Given the description of an element on the screen output the (x, y) to click on. 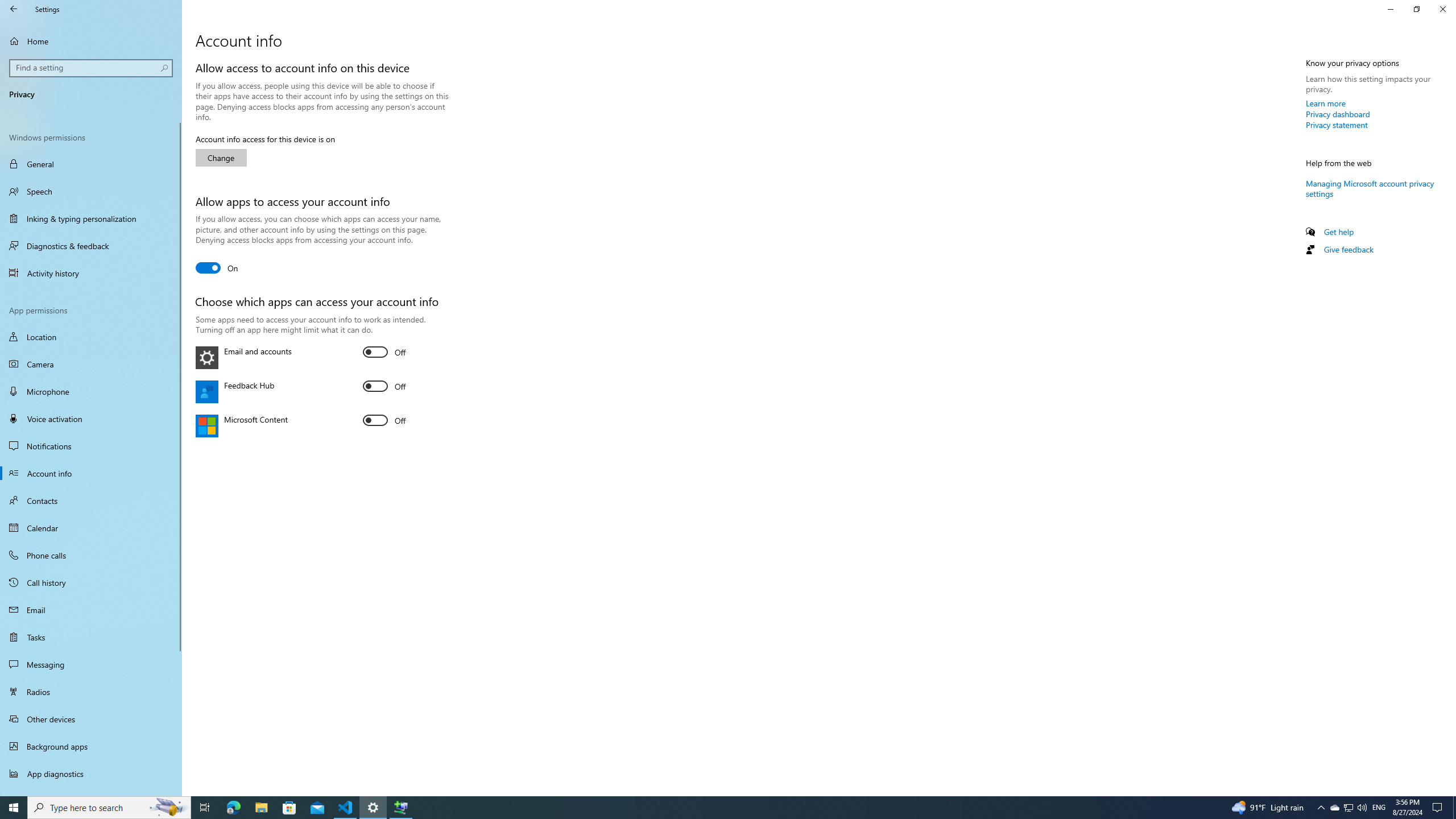
Privacy dashboard (1338, 113)
Inking & typing personalization (91, 217)
Running applications (706, 807)
Minimize Settings (1390, 9)
Type here to search (108, 807)
Search highlights icon opens search home window (167, 807)
Calendar (91, 527)
Allow apps to access your account info (216, 267)
Privacy statement (1336, 124)
Voice activation (91, 418)
Get help (1338, 231)
Automatic file downloads (91, 791)
Diagnostics & feedback (91, 245)
Microsoft Content (384, 420)
Action Center, No new notifications (1439, 807)
